Given the description of an element on the screen output the (x, y) to click on. 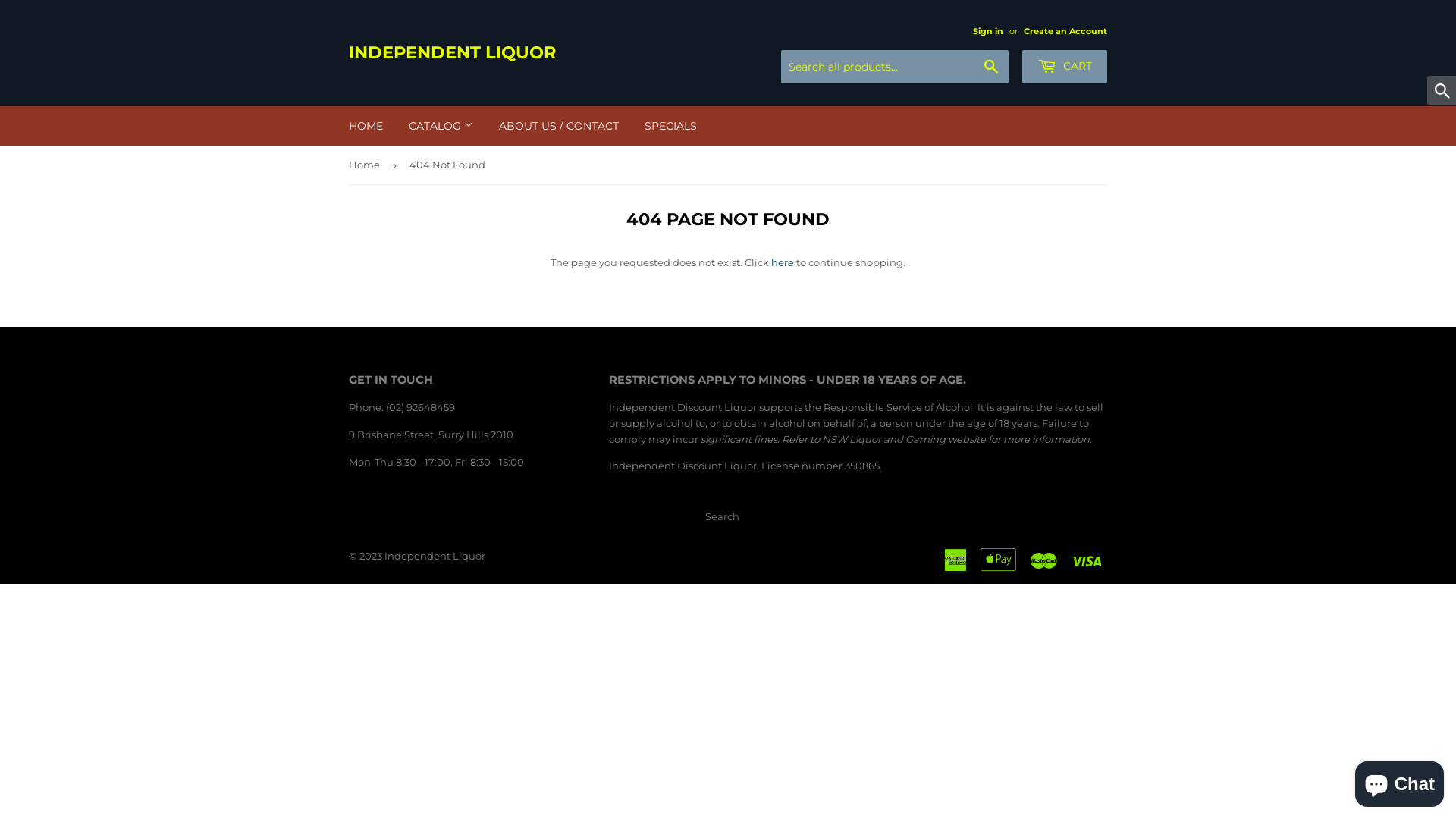
CART Element type: text (1064, 66)
Independent Liquor Element type: text (434, 555)
CATALOG Element type: text (440, 125)
SPECIALS Element type: text (670, 125)
Create an Account Element type: text (1065, 30)
Sign in Element type: text (987, 30)
Search Element type: text (991, 67)
HOME Element type: text (365, 125)
INDEPENDENT LIQUOR Element type: text (538, 52)
Search Element type: text (722, 516)
ABOUT US / CONTACT Element type: text (558, 125)
Shopify online store chat Element type: hover (1399, 780)
significant fines Element type: text (738, 439)
Refer to NSW Liquor and Gaming website for more information. Element type: text (936, 439)
here Element type: text (782, 262)
Home Element type: text (366, 164)
